Given the description of an element on the screen output the (x, y) to click on. 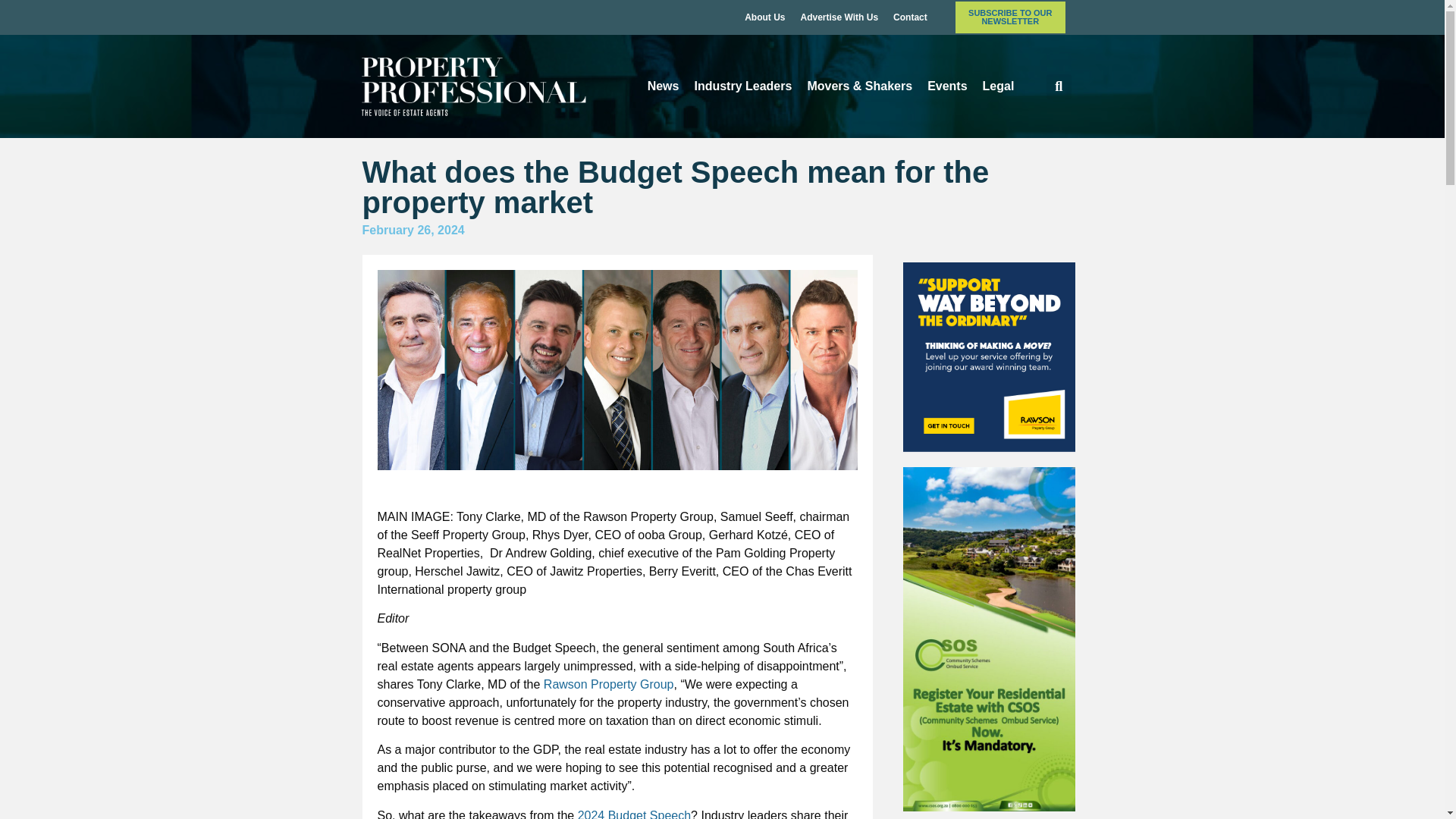
Industry Leaders (742, 86)
News (663, 86)
February 26, 2024 (413, 230)
Events (947, 86)
About Us (764, 17)
2024 Budget Speech (634, 814)
Legal (998, 86)
SUBSCRIBE TO OUR NEWSLETTER (1010, 17)
Rawson Property Group (608, 684)
Contact (909, 17)
Advertise With Us (838, 17)
